Given the description of an element on the screen output the (x, y) to click on. 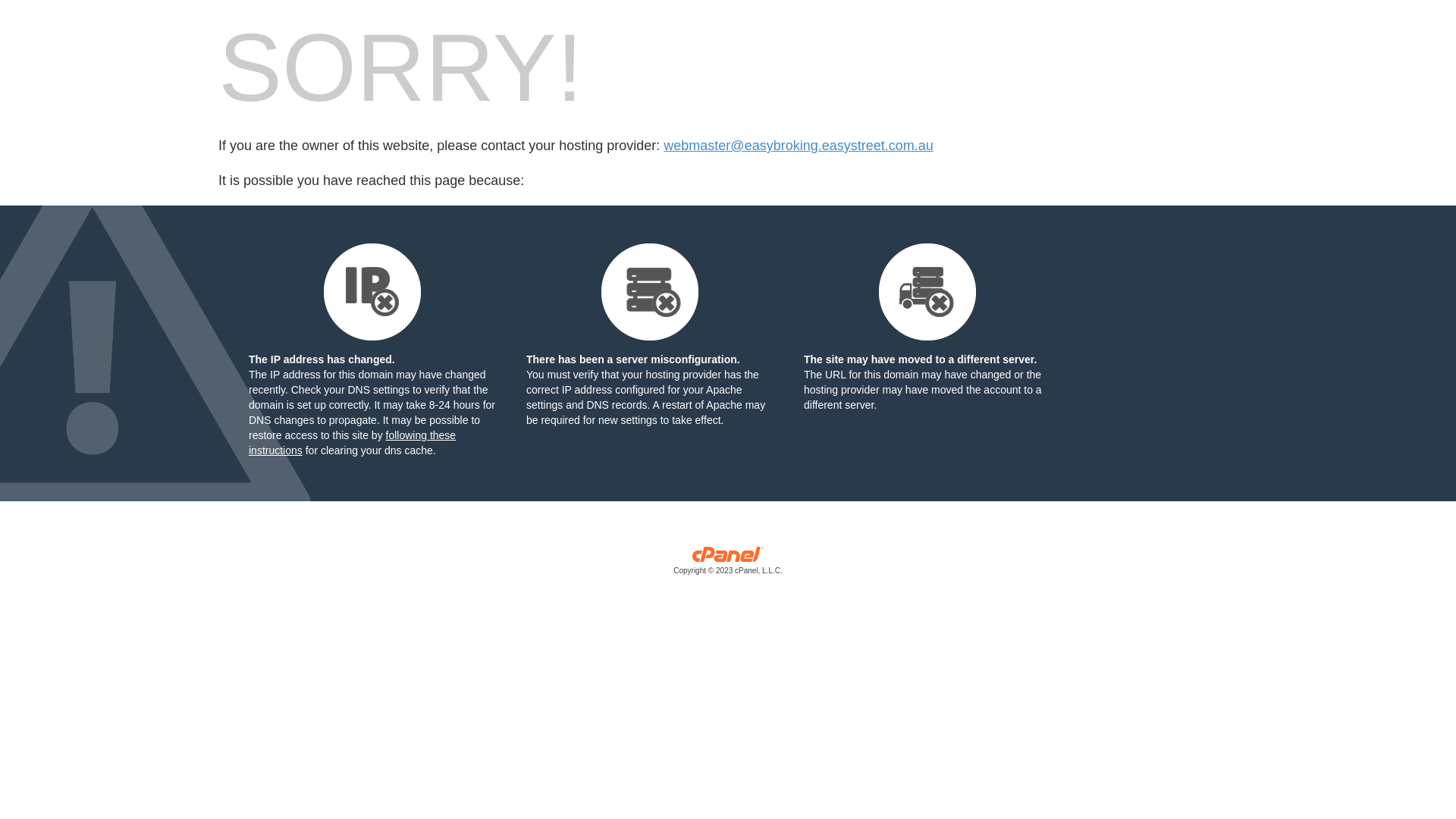
following these instructions Element type: text (351, 442)
webmaster@easybroking.easystreet.com.au Element type: text (797, 145)
